Given the description of an element on the screen output the (x, y) to click on. 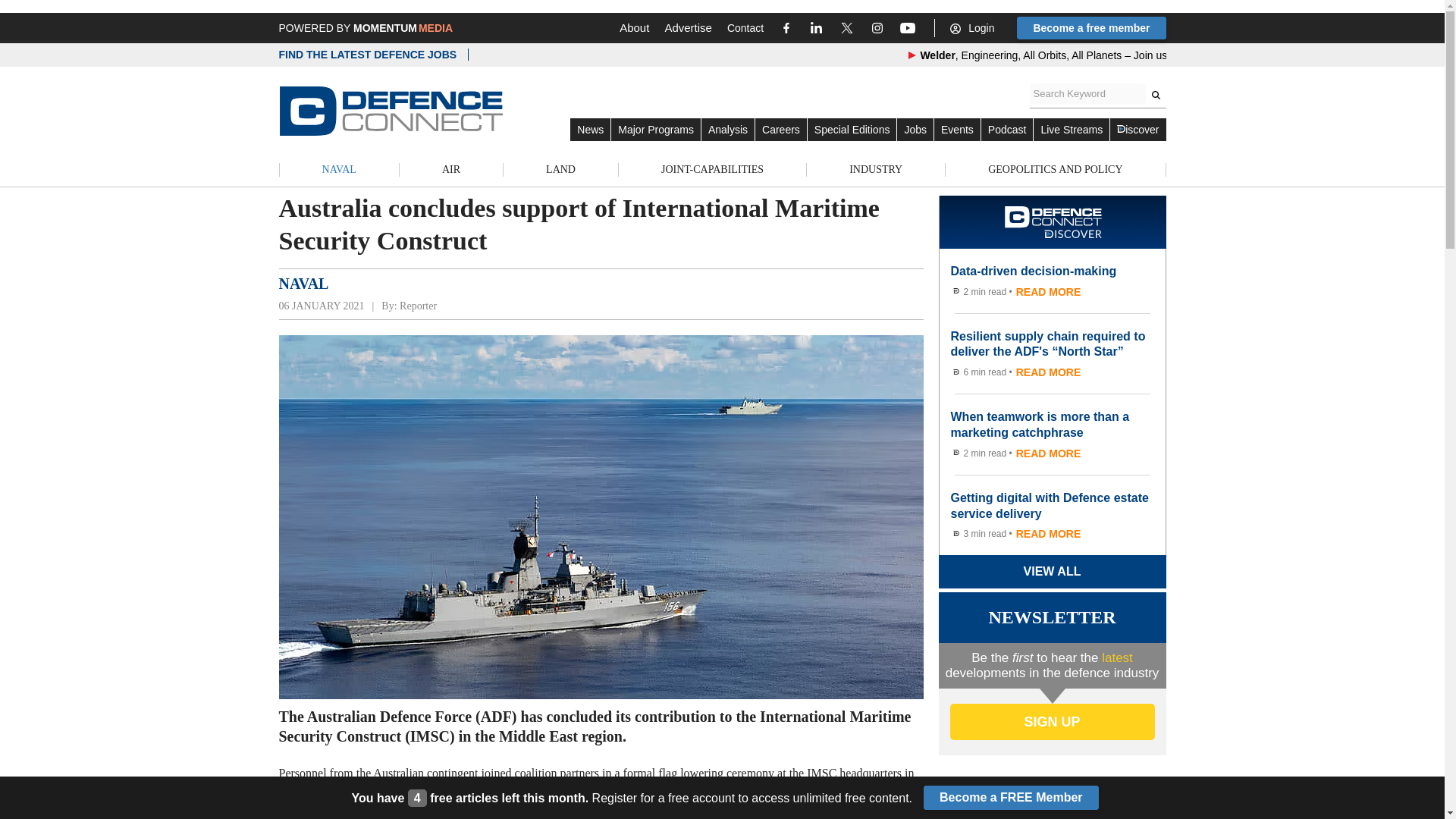
Become a FREE Member (1011, 797)
Become a FREE Member (1011, 797)
sign up (1051, 721)
Become a free member (1091, 27)
